Given the description of an element on the screen output the (x, y) to click on. 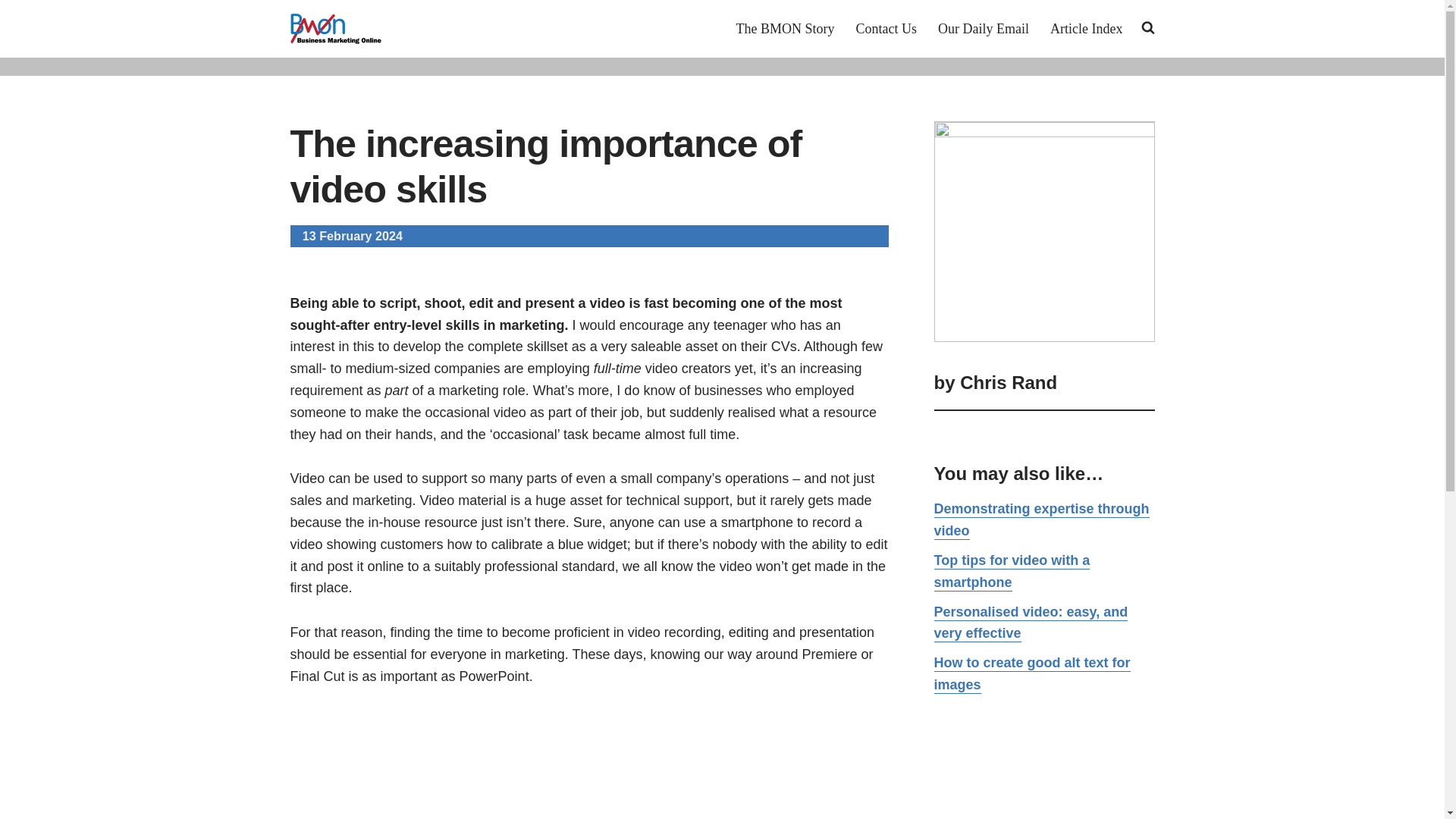
Personalised video: easy, and very effective (1031, 623)
Top tips for video with a smartphone (1012, 571)
The BMON Story (785, 28)
Demonstrating expertise through video (1042, 520)
How to create good alt text for images (1032, 674)
Skip to content (11, 31)
Article Index (1085, 28)
Our Daily Email (983, 28)
Contact Us (886, 28)
